Given the description of an element on the screen output the (x, y) to click on. 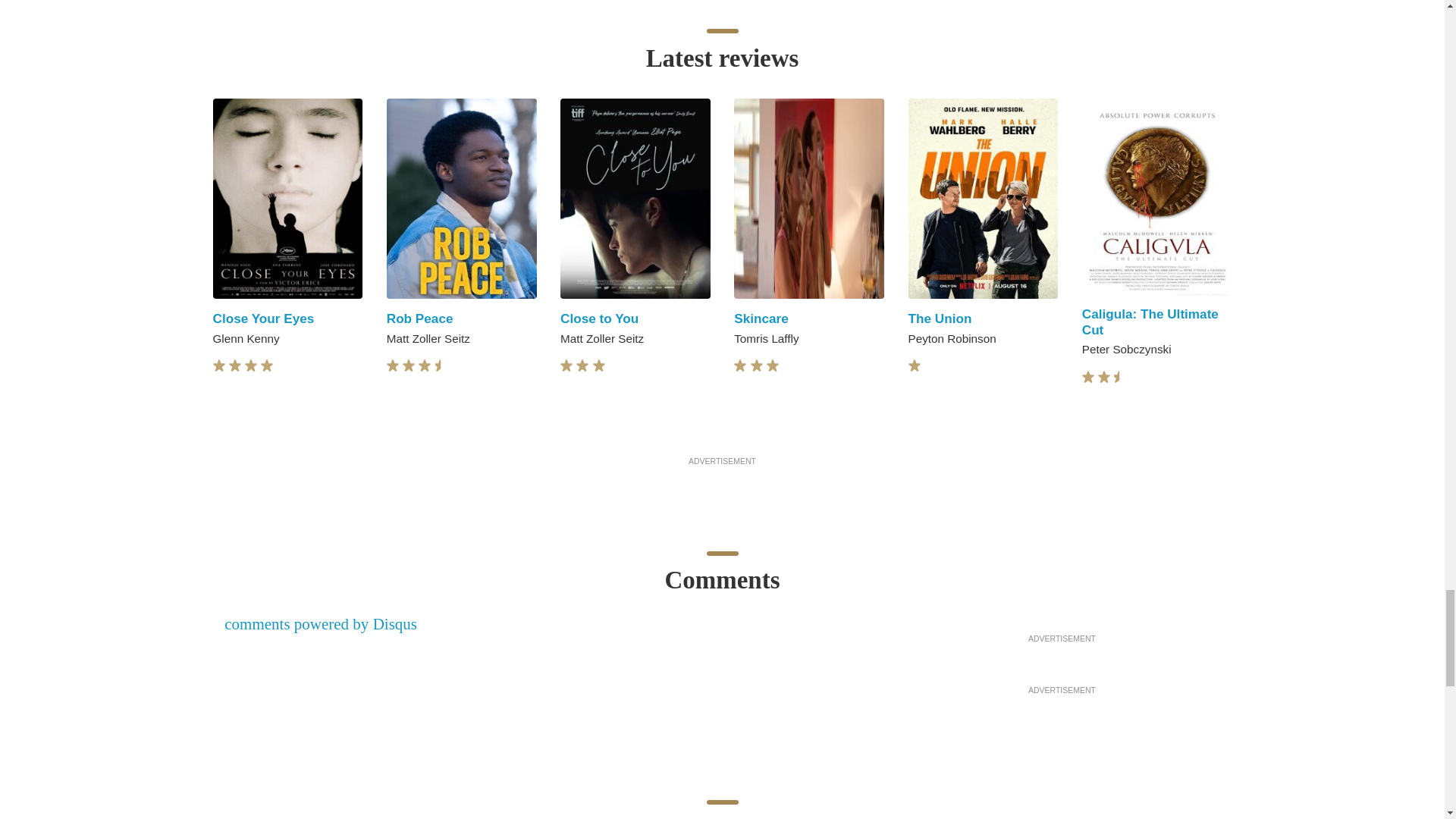
star-full (234, 365)
star-full (392, 365)
star-full (218, 365)
star-full (424, 365)
star-full (266, 365)
star-full (566, 365)
star-half (440, 365)
star-full (408, 365)
star-full (250, 365)
